Given the description of an element on the screen output the (x, y) to click on. 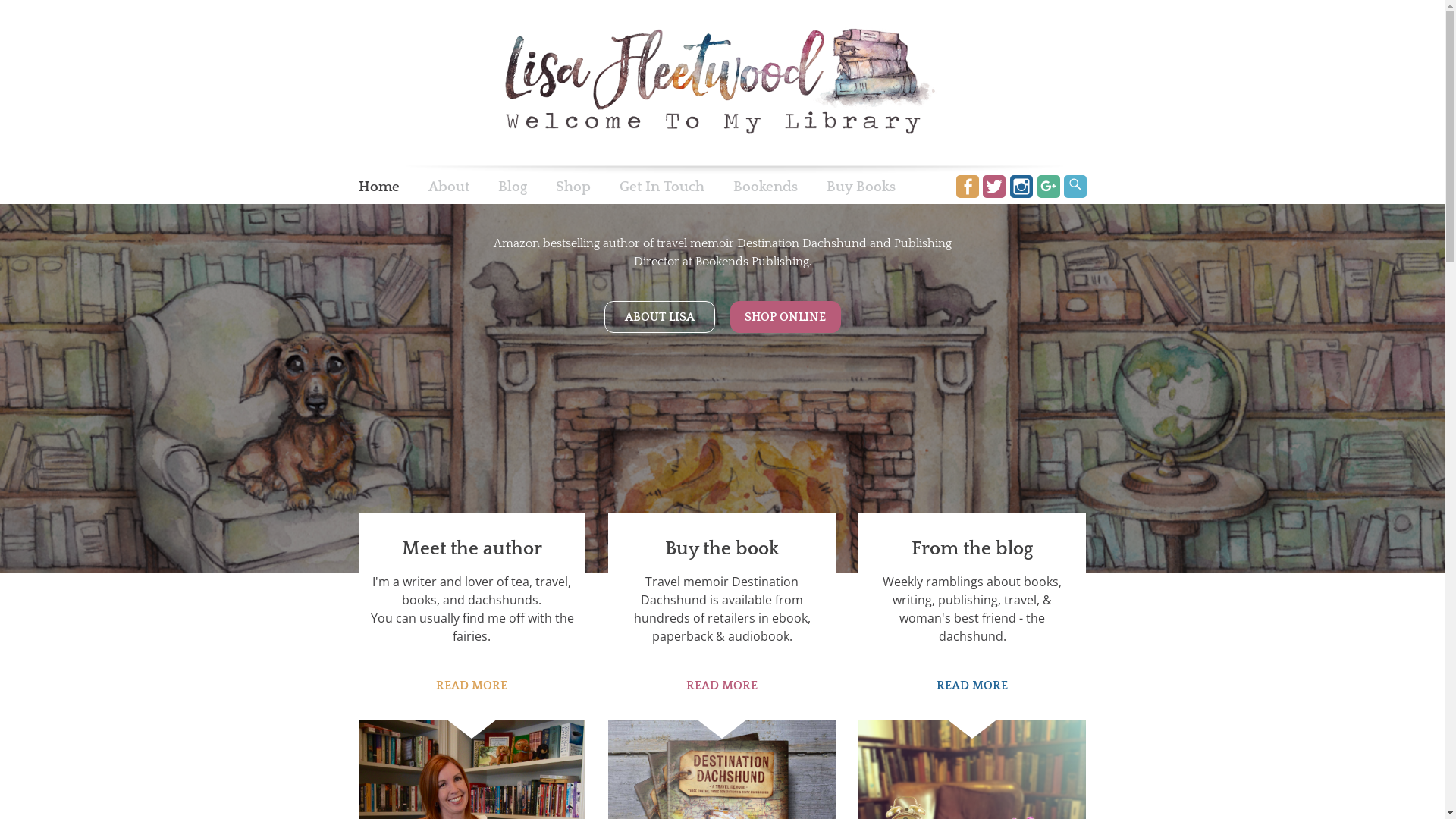
Shop Element type: text (572, 187)
ABOUT LISA Element type: text (658, 316)
Get In Touch Element type: text (660, 187)
SHOP ONLINE Element type: text (784, 316)
Bookends Element type: text (764, 187)
About Element type: text (447, 187)
Home Element type: text (377, 187)
Buy Books Element type: text (860, 187)
Search Element type: hover (1074, 186)
Blog Element type: text (511, 187)
Return to homepage Element type: hover (721, 82)
